Given the description of an element on the screen output the (x, y) to click on. 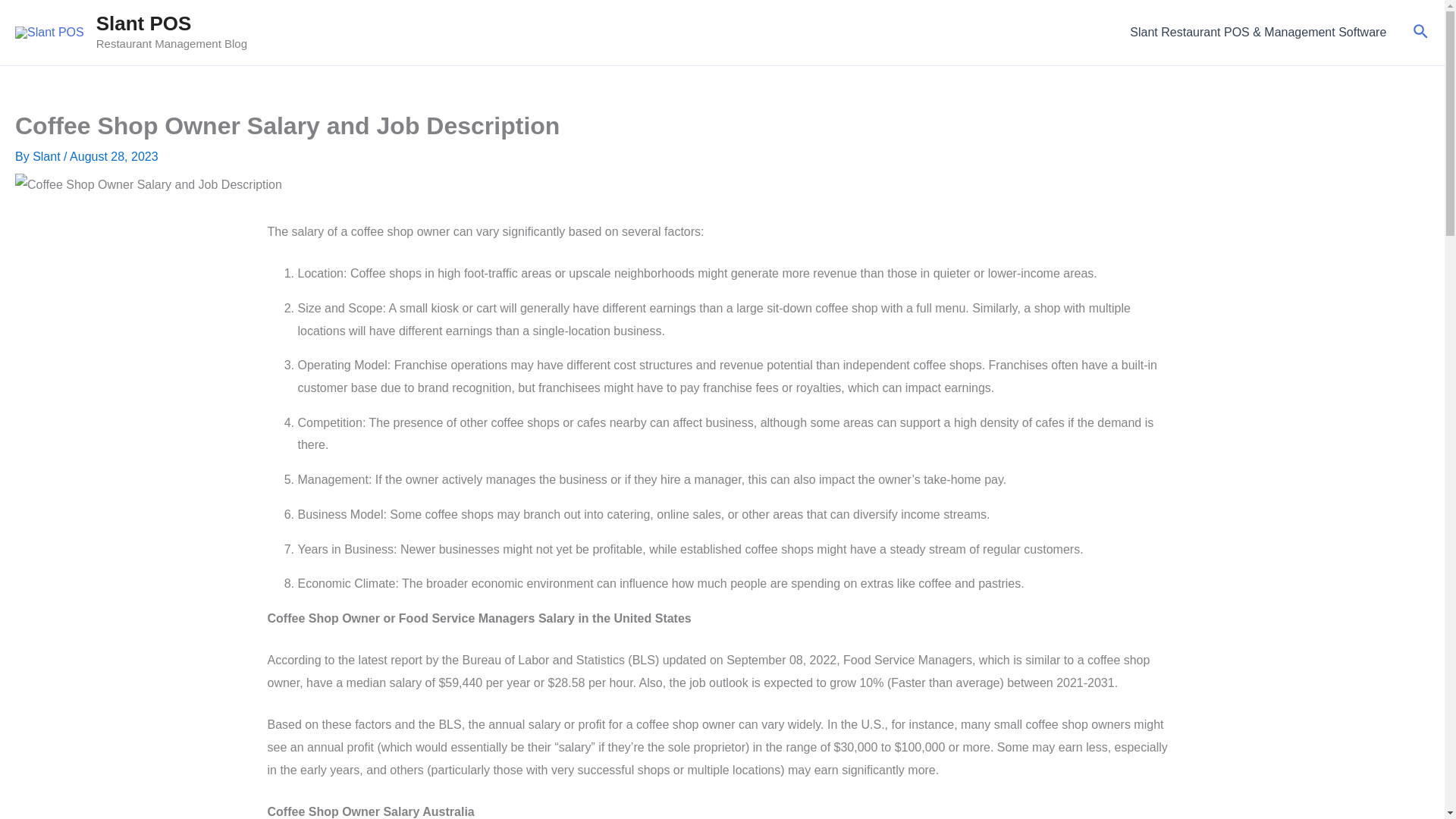
Slant (48, 155)
View all posts by Slant (48, 155)
Slant POS (144, 23)
